Given the description of an element on the screen output the (x, y) to click on. 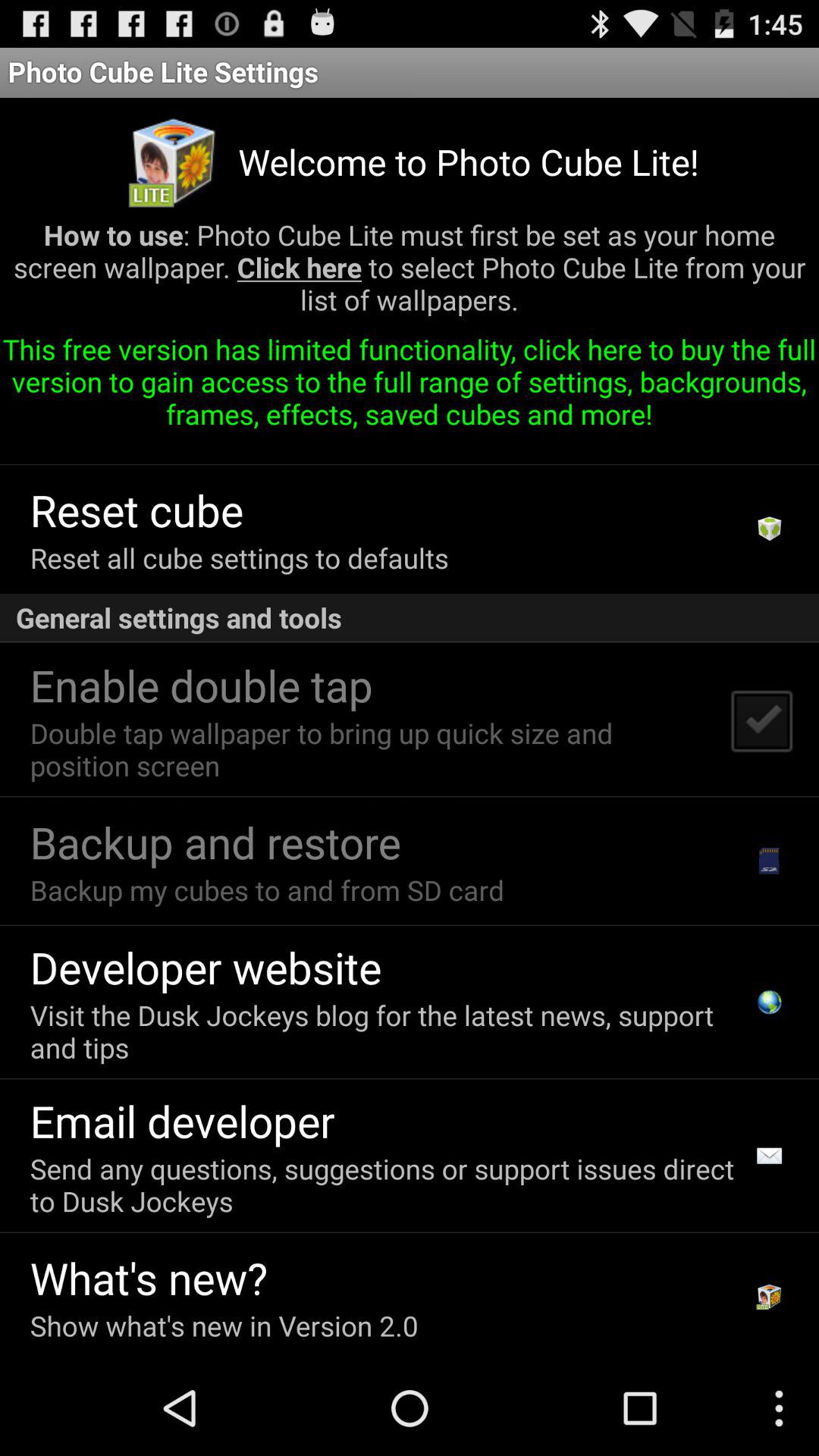
press icon below the general settings and (761, 719)
